Given the description of an element on the screen output the (x, y) to click on. 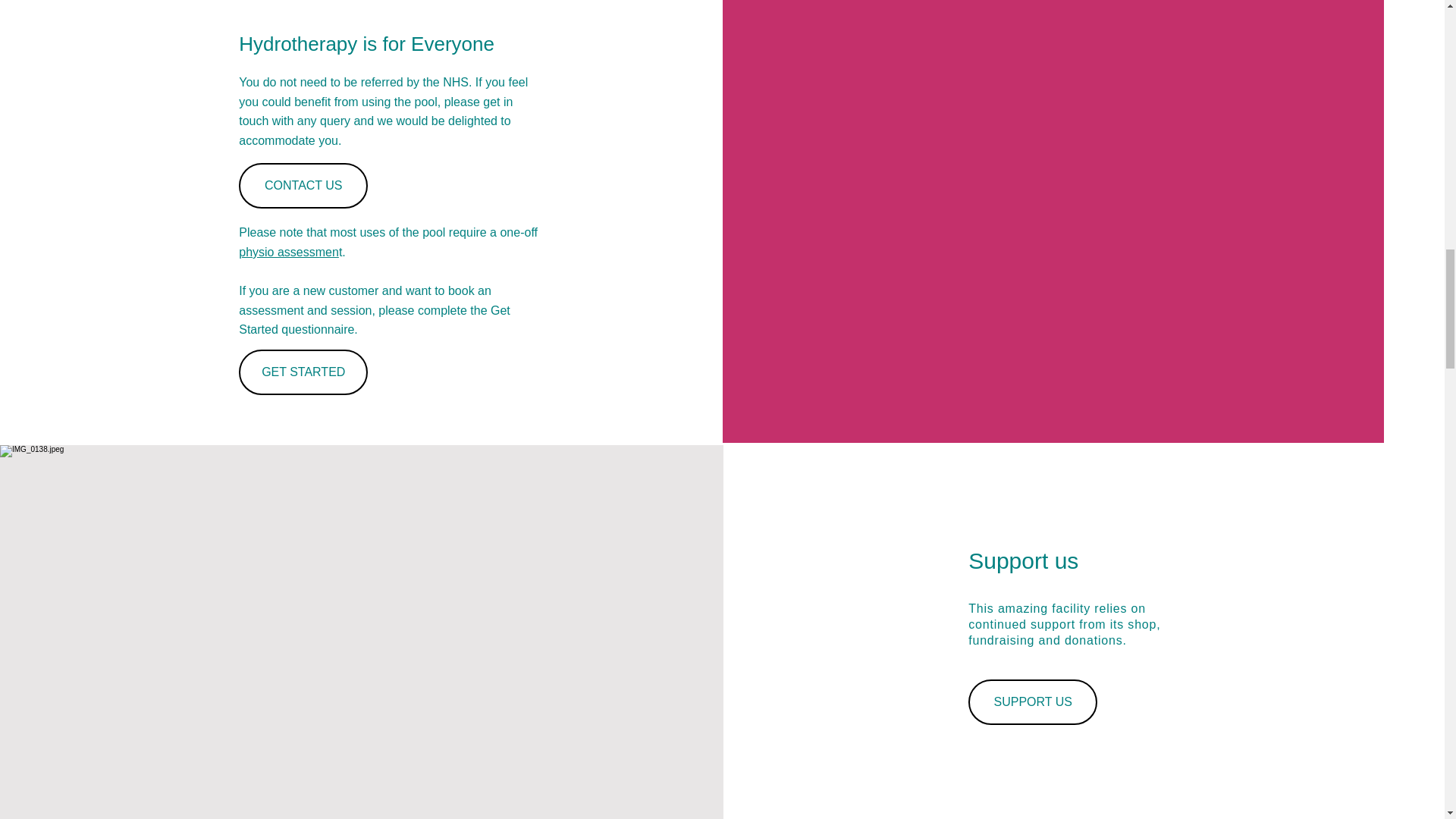
CONTACT US (303, 185)
physio assessmen (288, 251)
GET STARTED (303, 371)
SUPPORT US (1032, 701)
